Given the description of an element on the screen output the (x, y) to click on. 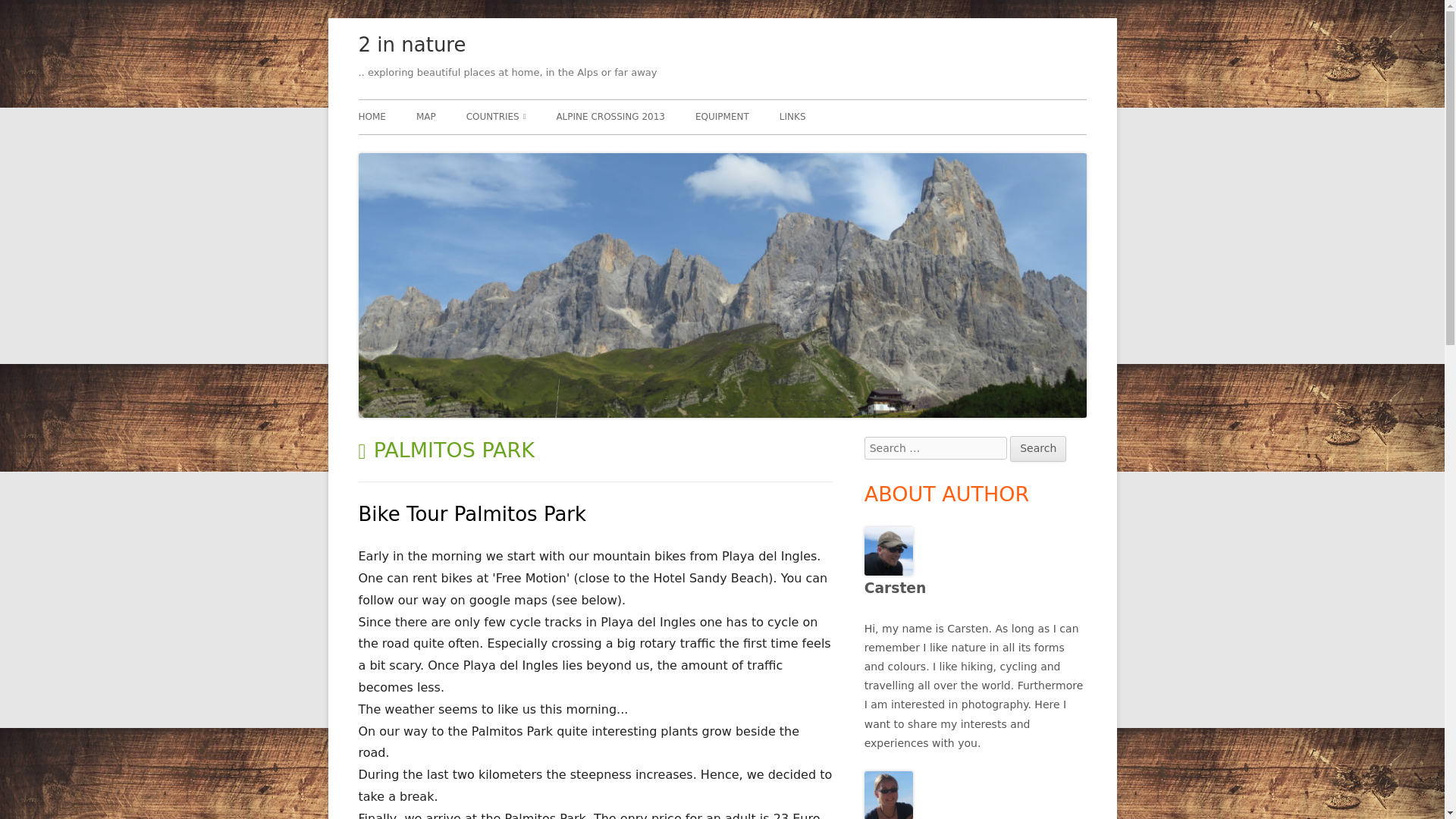
AUSTRIA (552, 149)
EQUIPMENT (722, 116)
Search (1037, 448)
COUNTRIES (495, 116)
2 in nature (411, 45)
ALPINE CROSSING 2013 (610, 116)
Search (1037, 448)
Bike Tour Palmitos Park (472, 513)
